Given the description of an element on the screen output the (x, y) to click on. 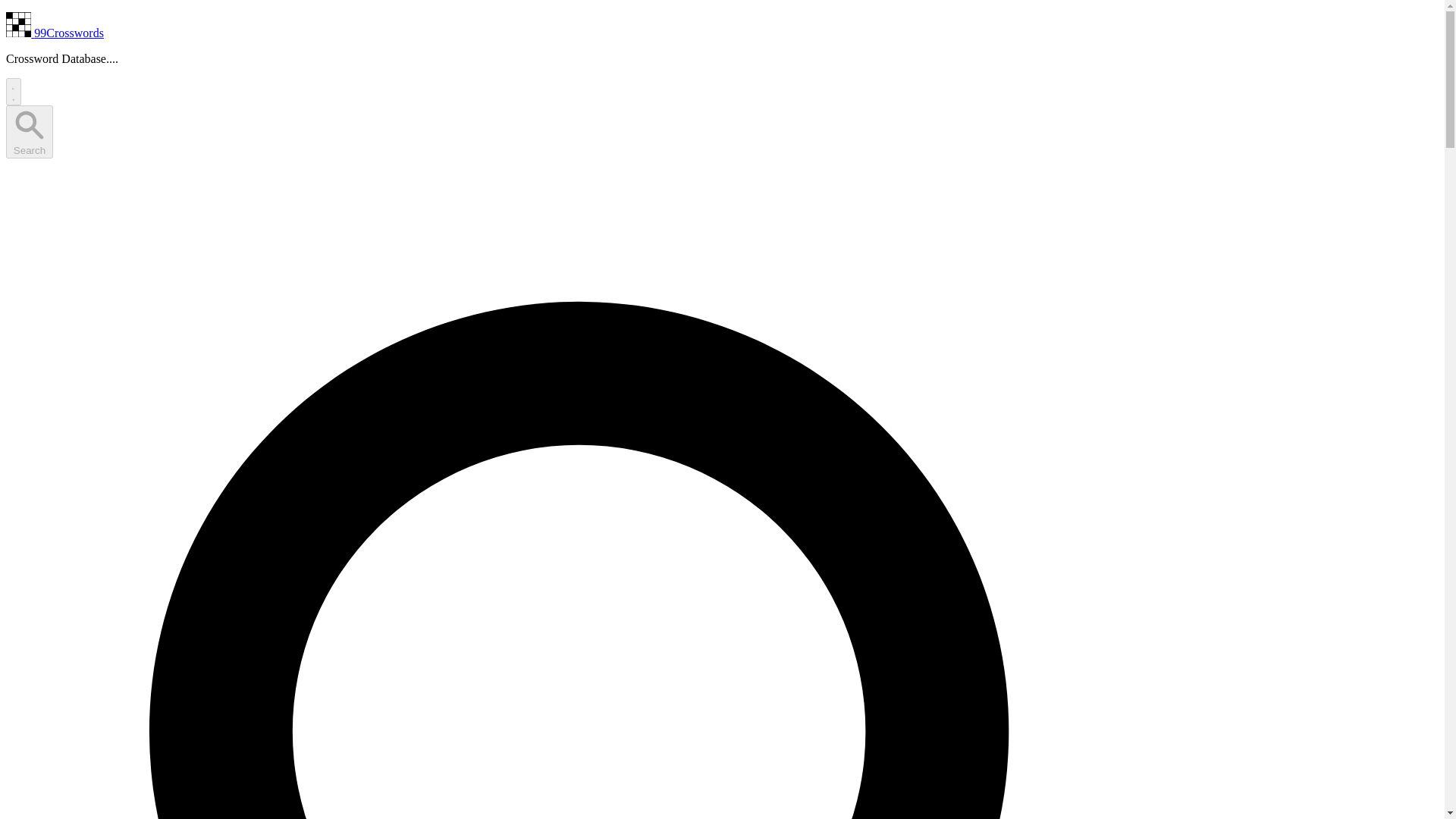
99Crosswords (54, 32)
